Given the description of an element on the screen output the (x, y) to click on. 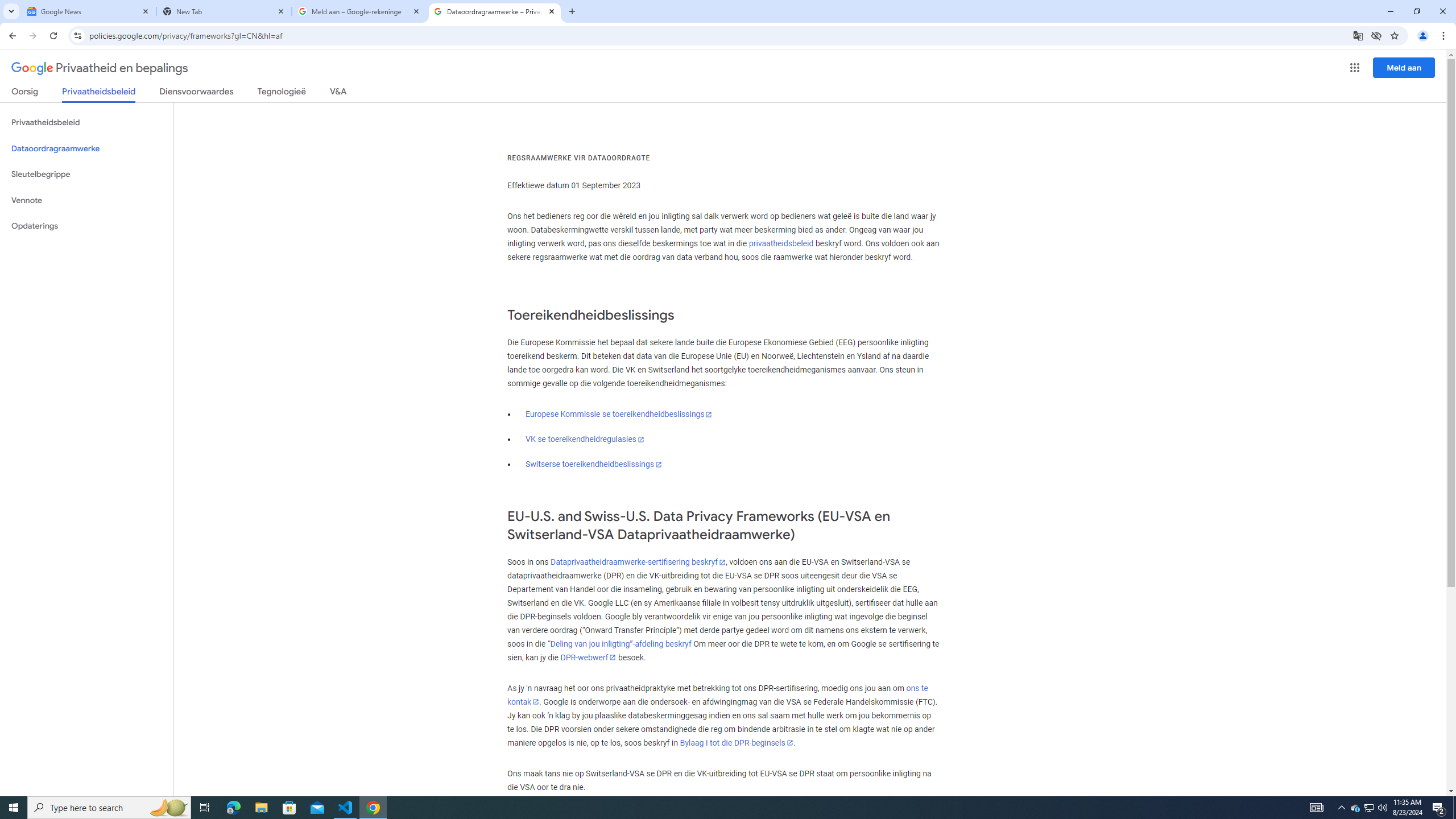
Meld aan (1404, 67)
Google-programme (1355, 67)
DPR-webwerf (587, 657)
Google News (88, 11)
Europese Kommissie se toereikendheidbeslissings (618, 414)
Diensvoorwaardes (196, 93)
